Given the description of an element on the screen output the (x, y) to click on. 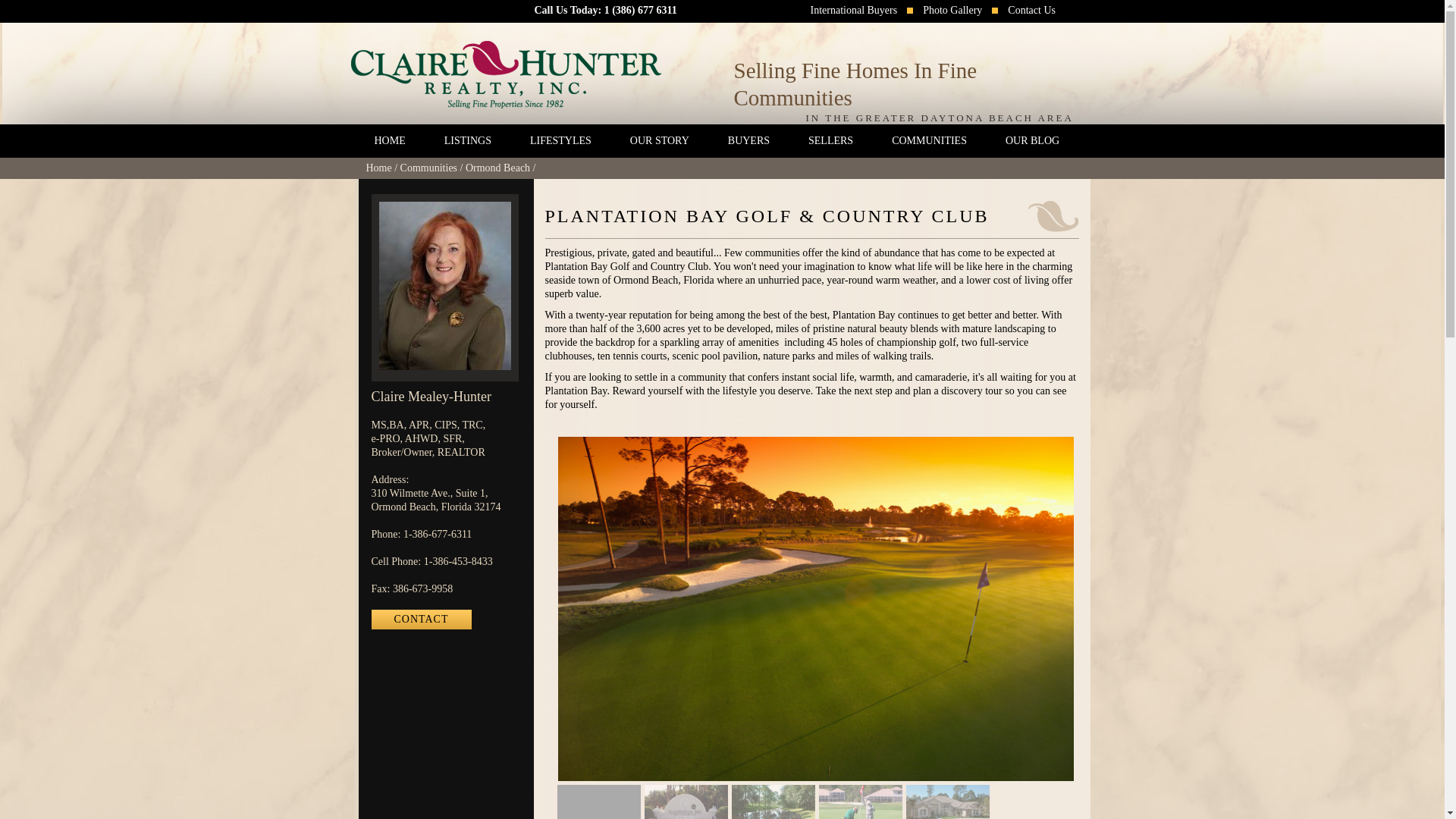
OUR STORY (658, 141)
BUYERS (748, 141)
International Buyers (853, 10)
Photo Gallery (951, 10)
HOME (390, 141)
LISTINGS (468, 141)
Contact Us (1031, 10)
LIFESTYLES (560, 141)
